Given the description of an element on the screen output the (x, y) to click on. 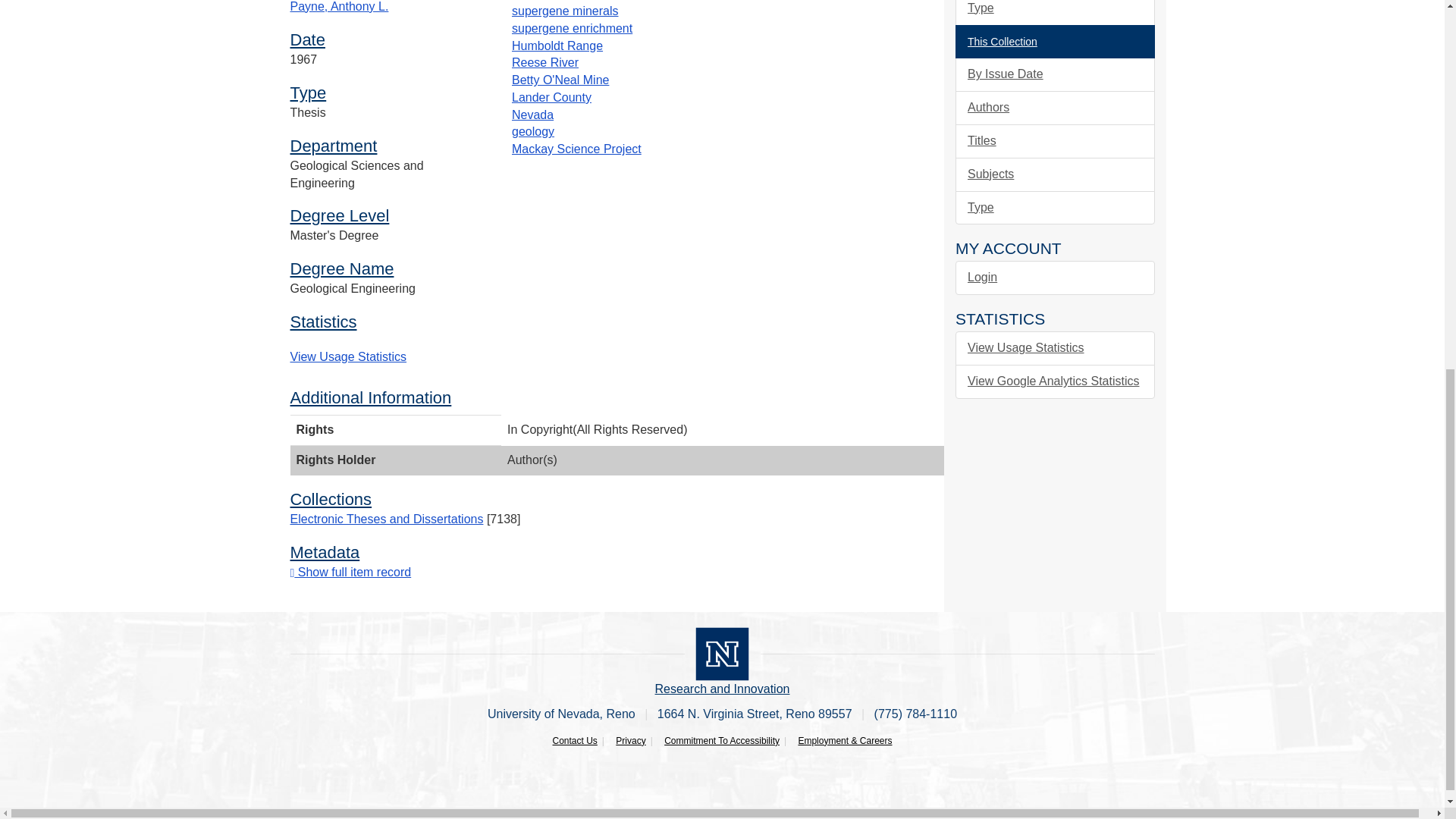
Humboldt Range (557, 44)
Authors (1054, 107)
Payne, Anthony L. (338, 6)
By Issue Date (1054, 74)
Nevada (532, 114)
View Usage Statistics (1054, 348)
Subjects (1054, 174)
Titles (1054, 141)
Type (1054, 207)
supergene minerals (565, 10)
Login (1054, 277)
Betty O'Neal Mine (560, 79)
Type (1054, 12)
View Usage Statistics (347, 356)
Lander County (551, 97)
